Given the description of an element on the screen output the (x, y) to click on. 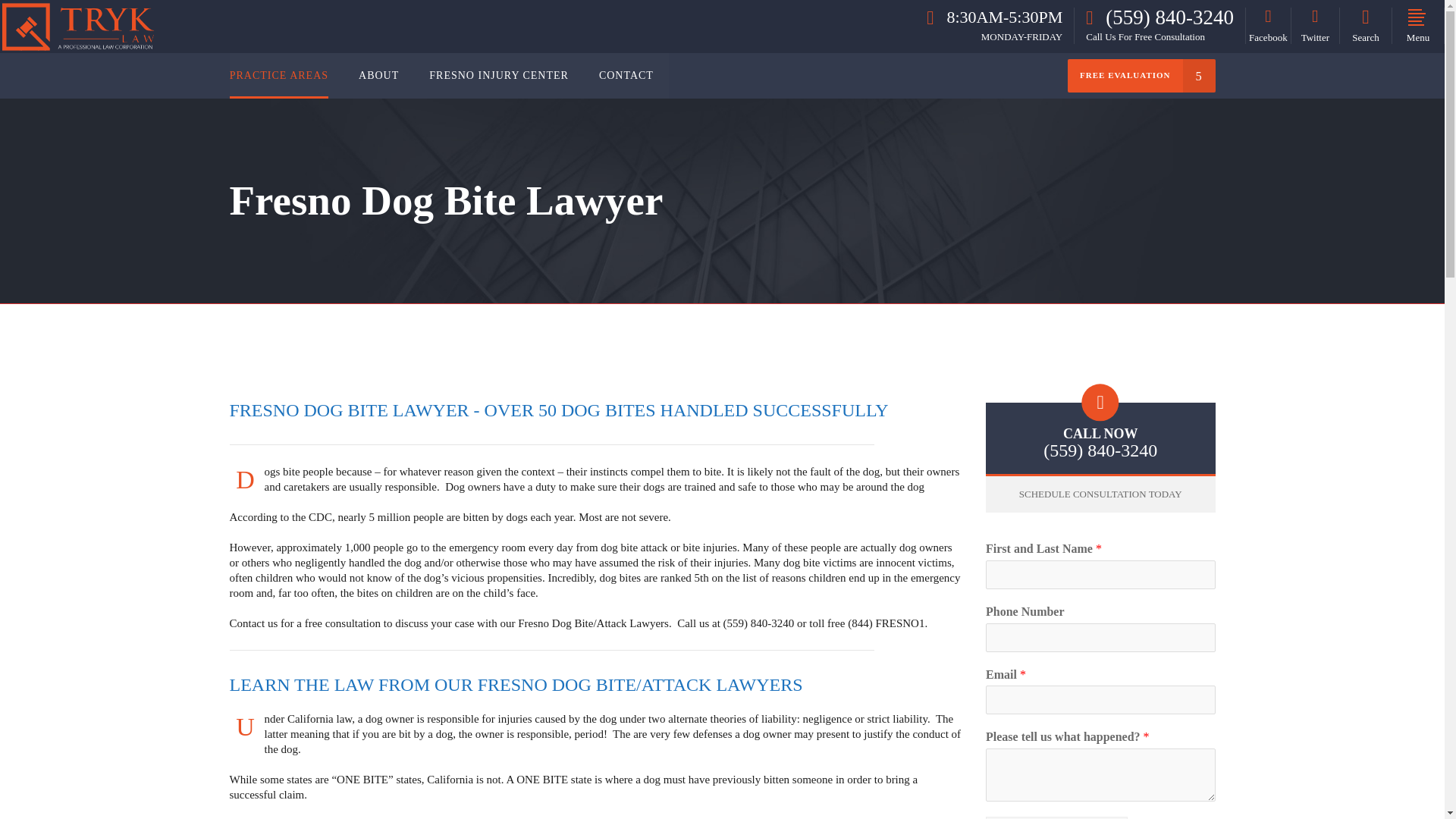
Search (1365, 26)
PRACTICE AREAS (286, 75)
FRESNO INJURY CENTER (498, 75)
ABOUT (378, 75)
Menu (1417, 26)
